Given the description of an element on the screen output the (x, y) to click on. 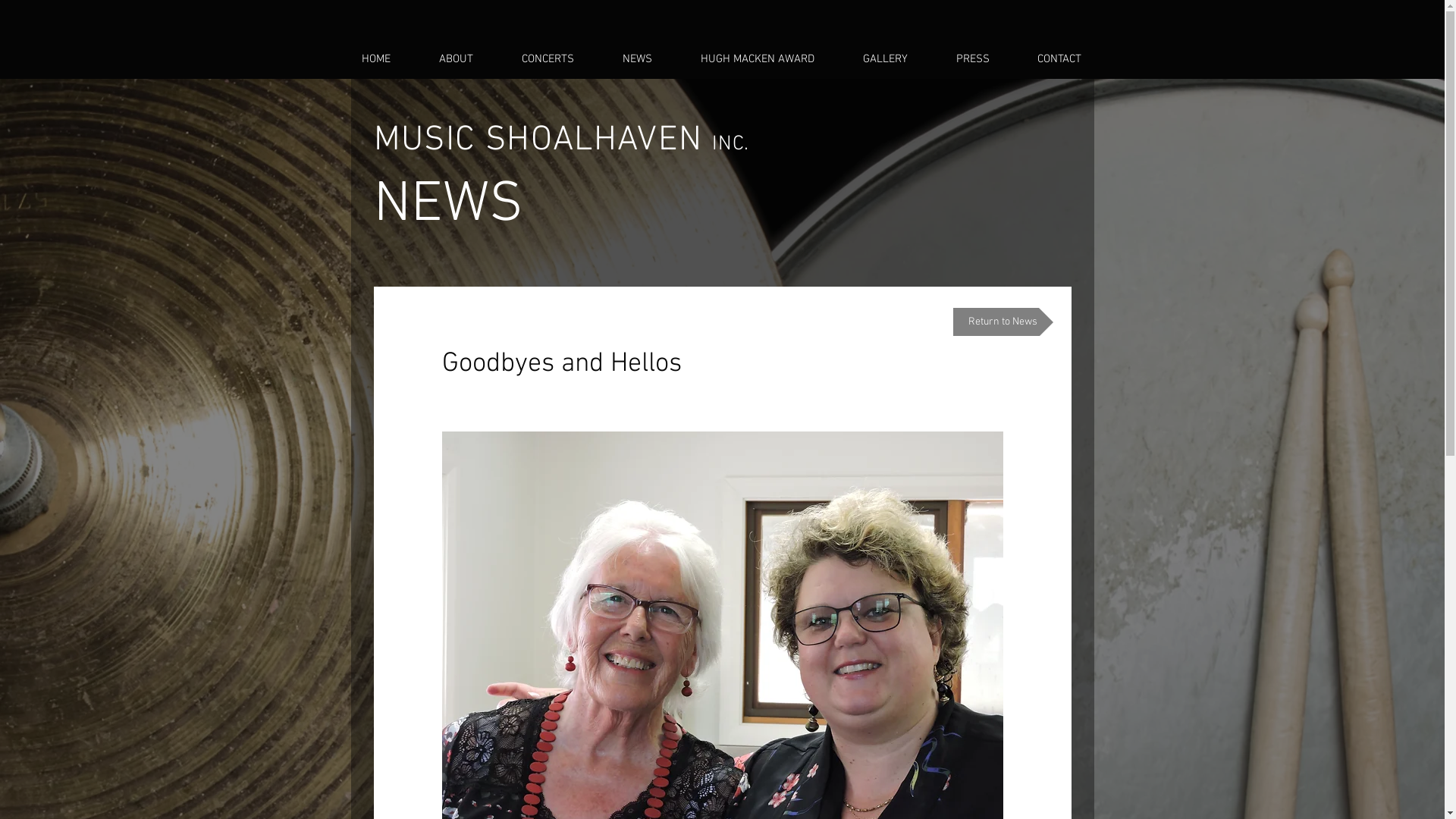
HOME Element type: text (387, 59)
GALLERY Element type: text (897, 59)
CONTACT Element type: text (1071, 59)
Return to News Element type: text (1002, 321)
HUGH MACKEN AWARD Element type: text (769, 59)
ABOUT Element type: text (467, 59)
PRESS Element type: text (983, 59)
